Given the description of an element on the screen output the (x, y) to click on. 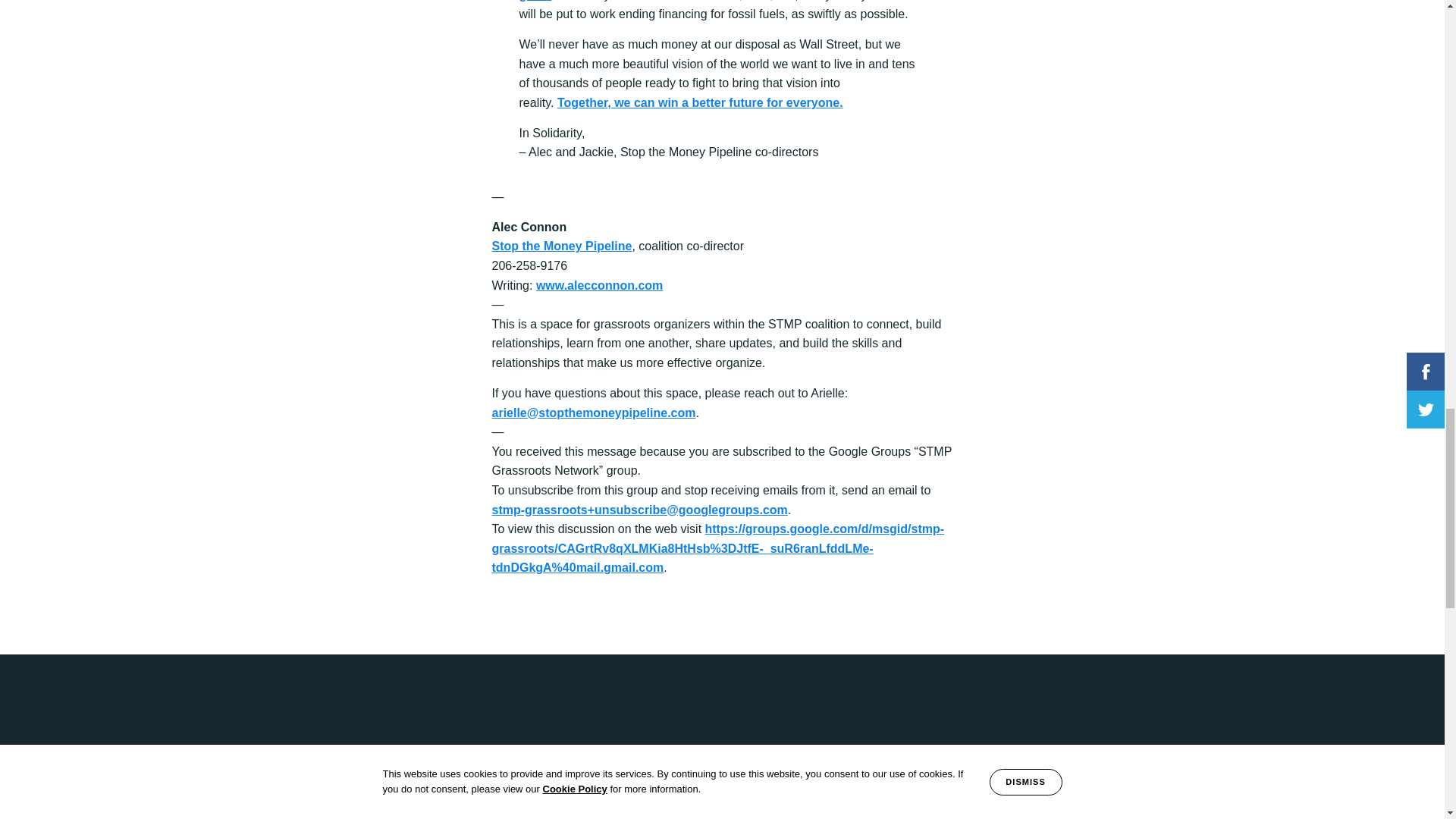
Together, we can win a better future for everyone. (700, 102)
www.alecconnon.com (598, 285)
Stop the Money Pipeline (561, 245)
SIGN UP FOR WENATCHEE 350 CLIMATE CONVERSATIONS MAILING LIST (823, 808)
